Given the description of an element on the screen output the (x, y) to click on. 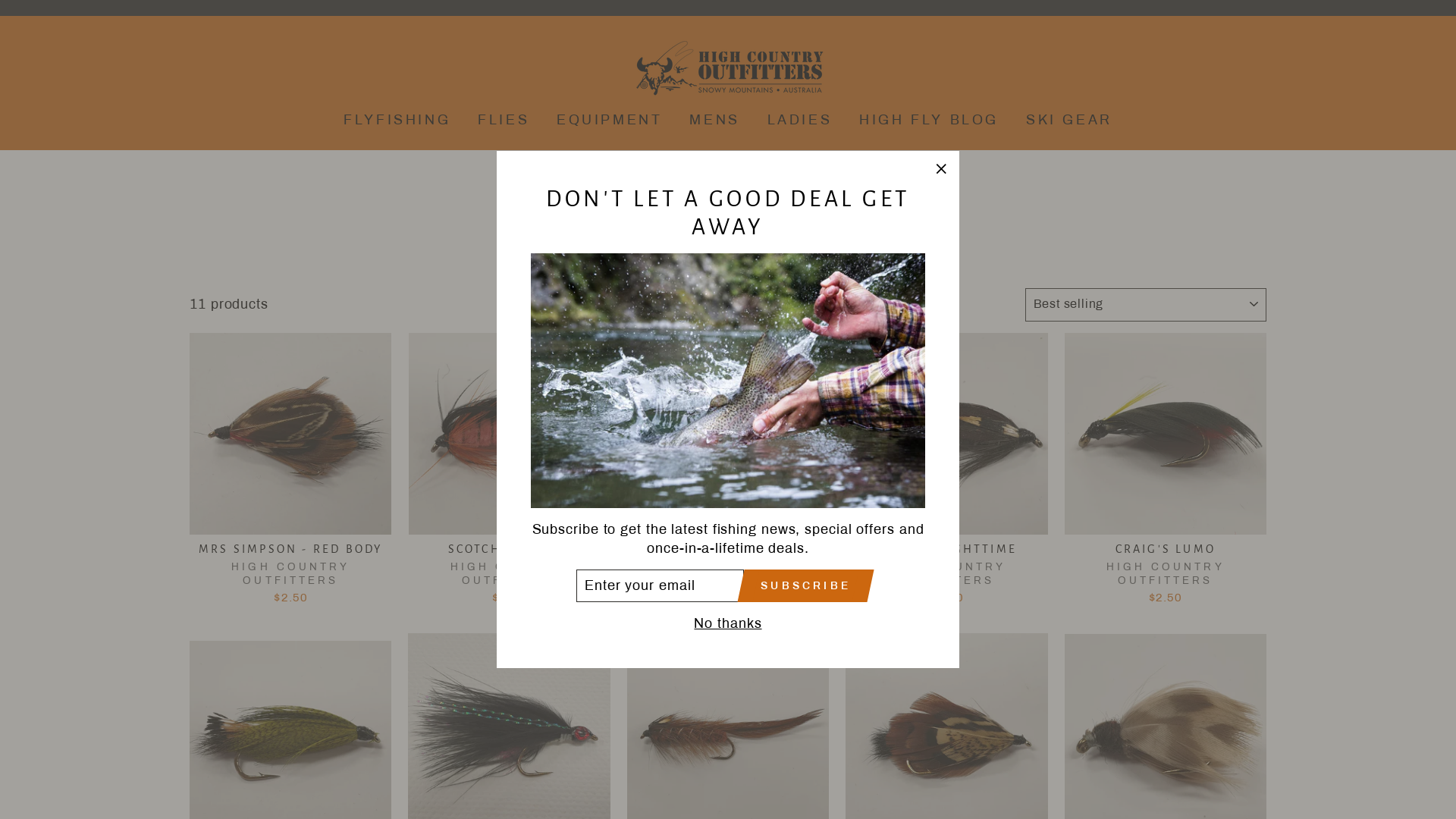
CRAIG'S NIGHTTIME
HIGH COUNTRY OUTFITTERS
$2.50 Element type: text (946, 471)
MENS Element type: text (713, 119)
HIGH FLY BLOG Element type: text (928, 119)
FLYFISHING Element type: text (396, 119)
Skip to content Element type: text (0, 0)
No thanks Element type: text (727, 623)
SUBSCRIBE Element type: text (805, 585)
LADIES Element type: text (800, 119)
Home Element type: text (723, 195)
CRAIG'S LUMO
HIGH COUNTRY OUTFITTERS
$2.50 Element type: text (1165, 471)
SEARCH Element type: text (189, 68)
HAMILLS KILLER- DARK
HIGH COUNTRY OUTFITTERS
$2.50 Element type: text (727, 471)
FLIES Element type: text (503, 119)
MRS SIMPSON - RED BODY
HIGH COUNTRY OUTFITTERS
$2.50 Element type: text (290, 471)
LOG IN Element type: text (1243, 68)
SKI GEAR Element type: text (1068, 119)
SCOTCH POACHER
HIGH COUNTRY OUTFITTERS
$2.50 Element type: text (508, 471)
CART Element type: text (1266, 68)
"Close (esc)" Element type: text (940, 168)
EQUIPMENT Element type: text (609, 119)
